Given the description of an element on the screen output the (x, y) to click on. 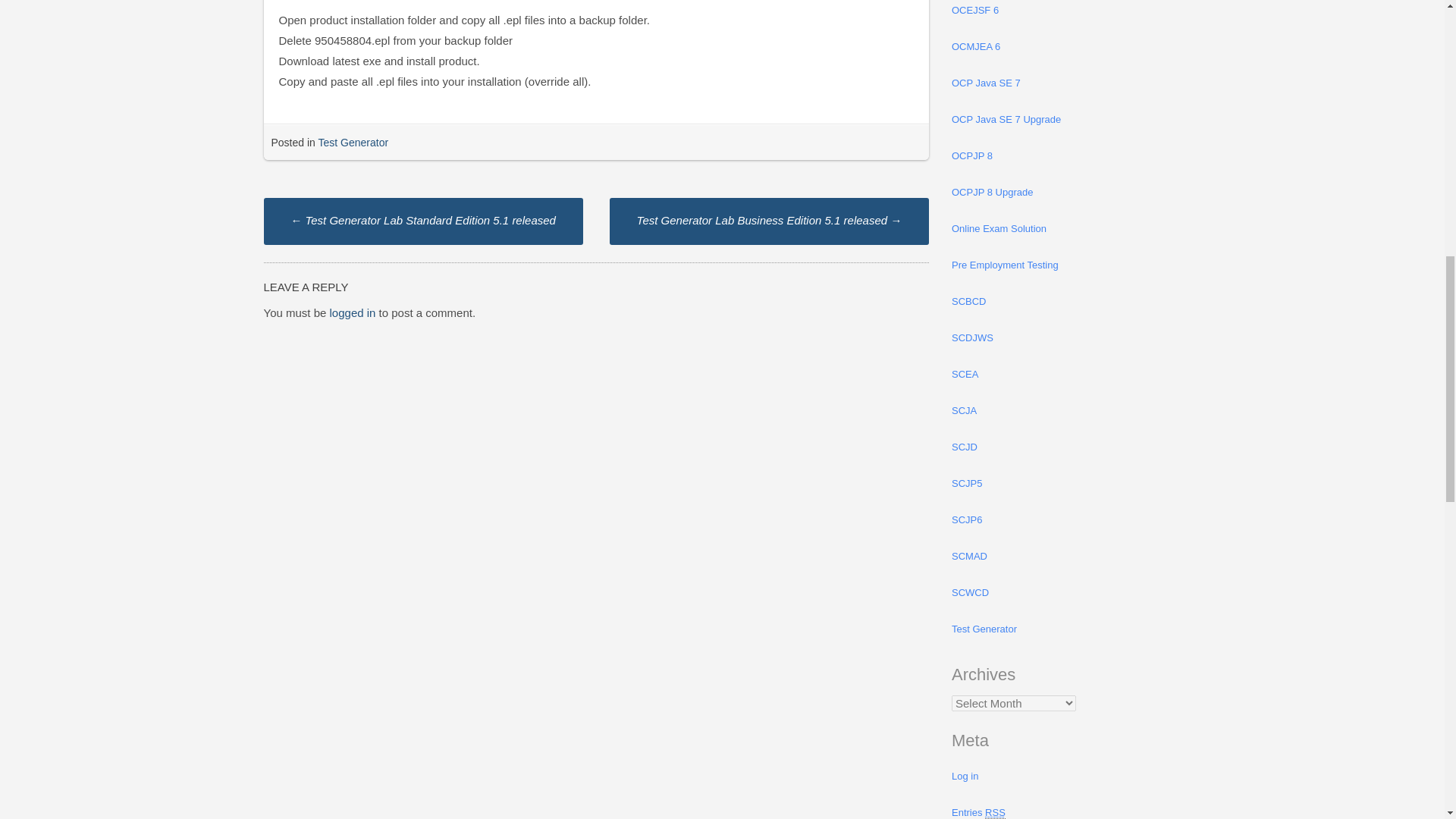
OCPJP 8 (1055, 156)
OCPJP 8 Upgrade (1055, 192)
OCEJSF 6 (1055, 14)
Online Exam Solution (1055, 228)
OCP Java SE 7 Upgrade (1055, 119)
OCMJEA 6 (1055, 46)
logged in (352, 312)
Pre Employment Testing (1055, 265)
OCP Java SE 7 (1055, 83)
SCDJWS (1055, 338)
Oracle Certified Master Java EE 6 Enterprise Architect (1055, 46)
SCBCD (1055, 301)
Test Generator (353, 142)
SCEA (1055, 374)
